Given the description of an element on the screen output the (x, y) to click on. 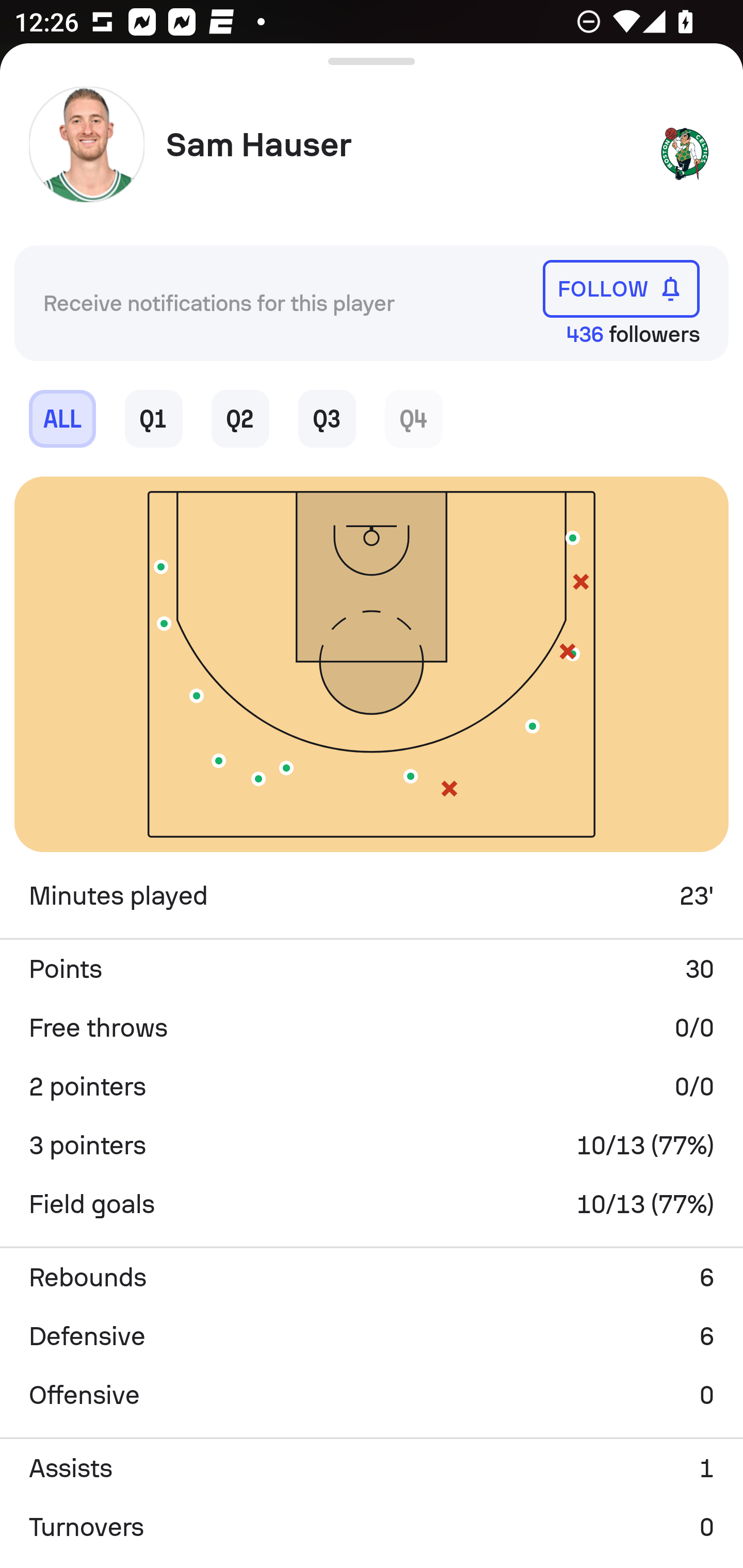
Sam Hauser (403, 144)
FOLLOW (621, 289)
ALL (62, 418)
Q1 (153, 418)
Q2 (239, 418)
Q3 (326, 418)
Q4 (413, 418)
Minutes played 23' (371, 896)
Points 30 (371, 968)
Free throws 0/0 (371, 1027)
2 pointers 0/0 (371, 1086)
3 pointers 10/13 (77%) (371, 1145)
Field goals 10/13 (77%) (371, 1204)
Rebounds 6 (371, 1277)
Defensive 6 (371, 1336)
Offensive 0 (371, 1395)
Assists 1 (371, 1468)
Turnovers 0 (371, 1527)
